Given the description of an element on the screen output the (x, y) to click on. 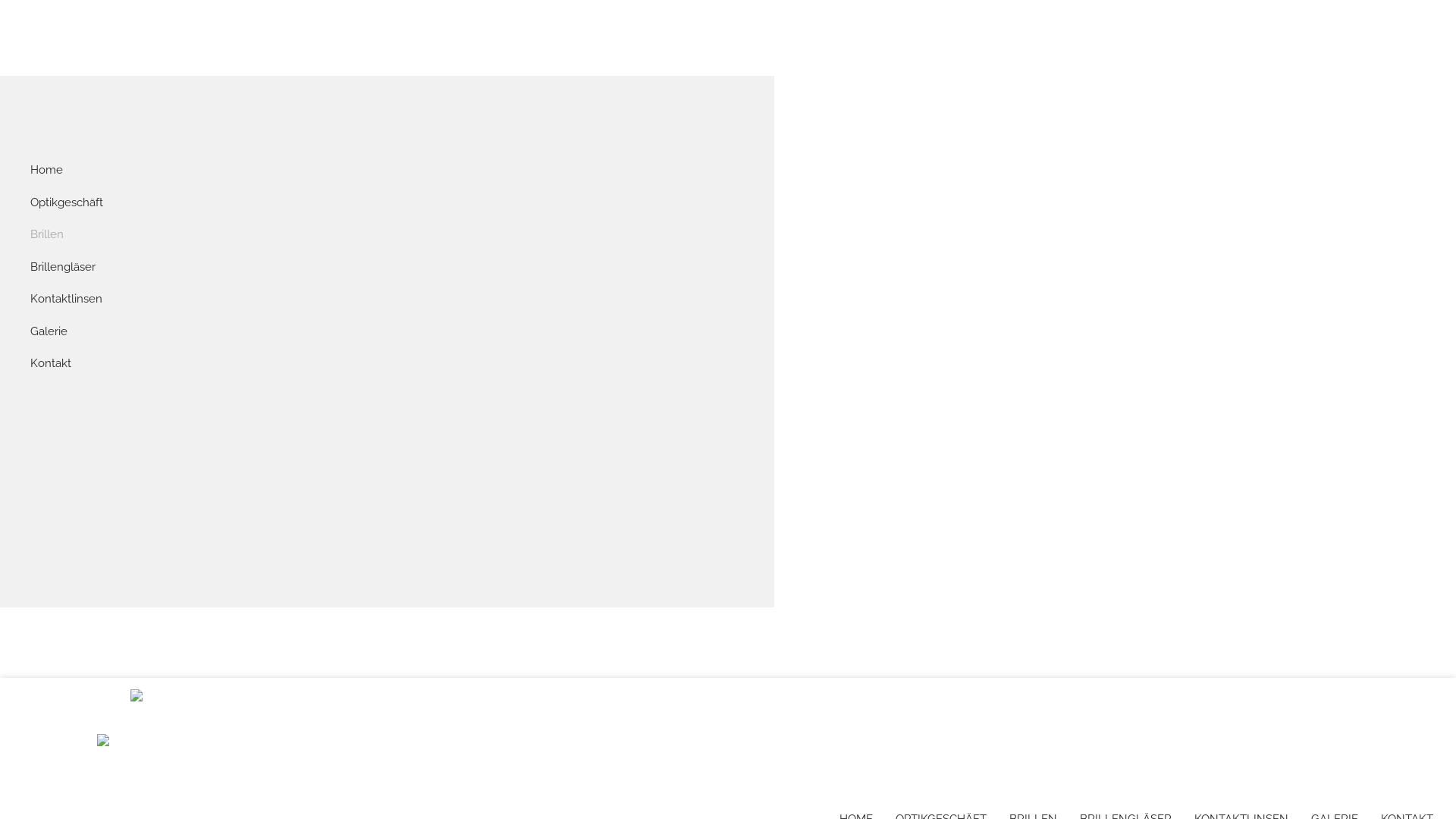
Home Element type: text (386, 169)
Galerie Element type: text (386, 331)
Kontakt Element type: text (386, 363)
Brillen Element type: text (386, 234)
Kontaktlinsen Element type: text (386, 298)
